Given the description of an element on the screen output the (x, y) to click on. 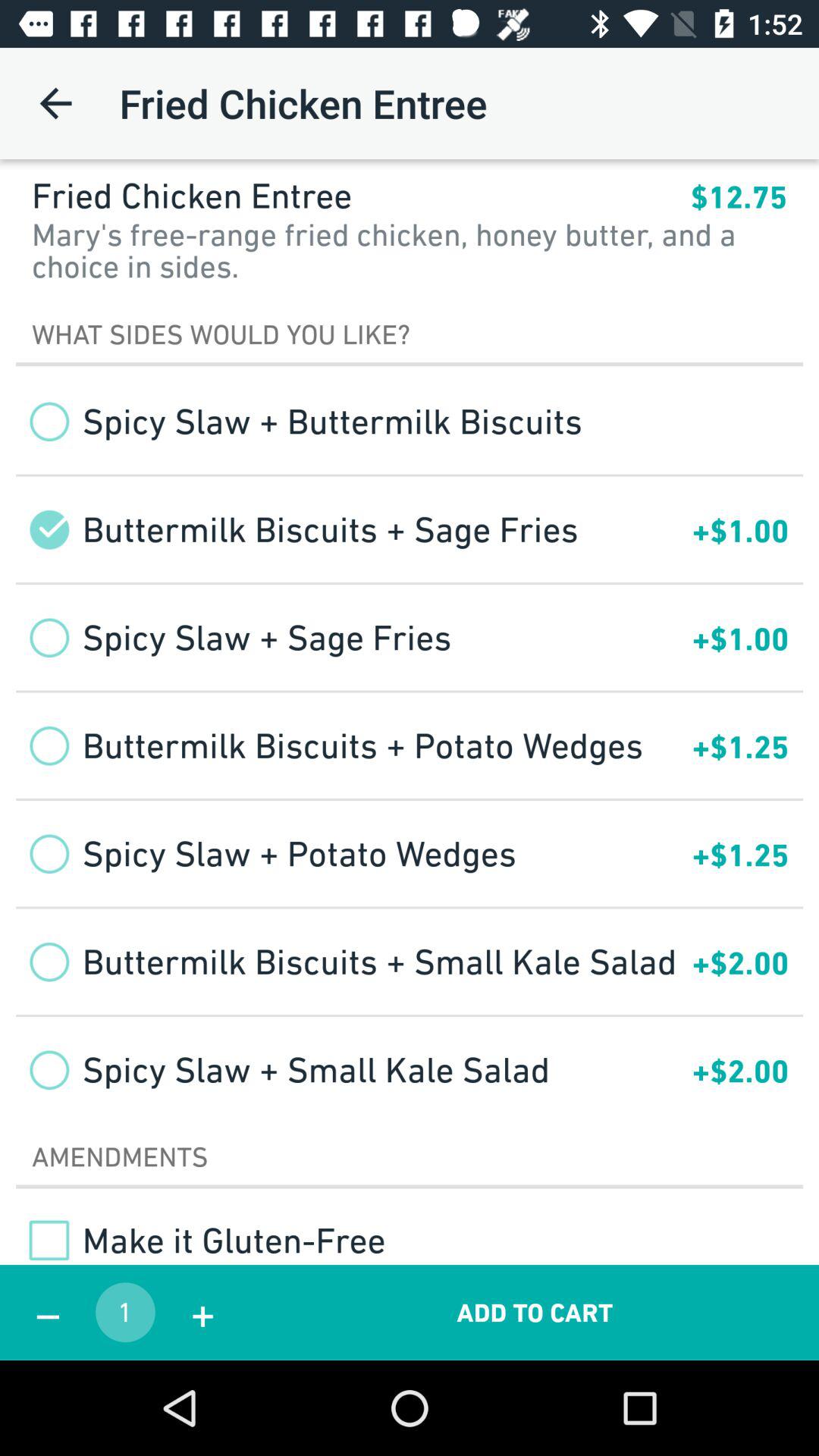
turn on icon to the left of the add to cart item (202, 1312)
